Given the description of an element on the screen output the (x, y) to click on. 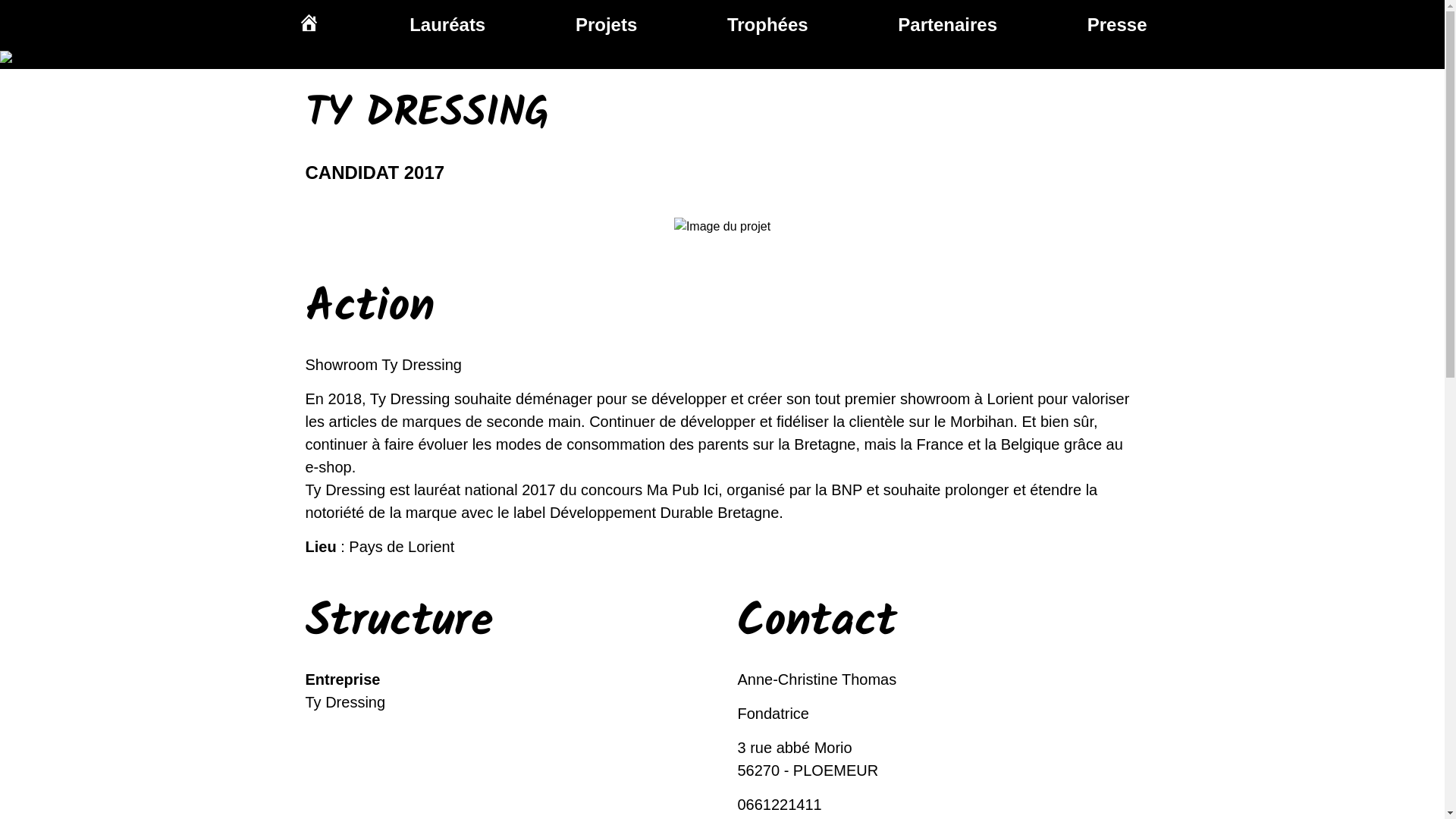
Projets Element type: text (606, 24)
Partenaires Element type: text (947, 24)
Presse Element type: text (1117, 24)
Accueil Element type: text (308, 24)
